Given the description of an element on the screen output the (x, y) to click on. 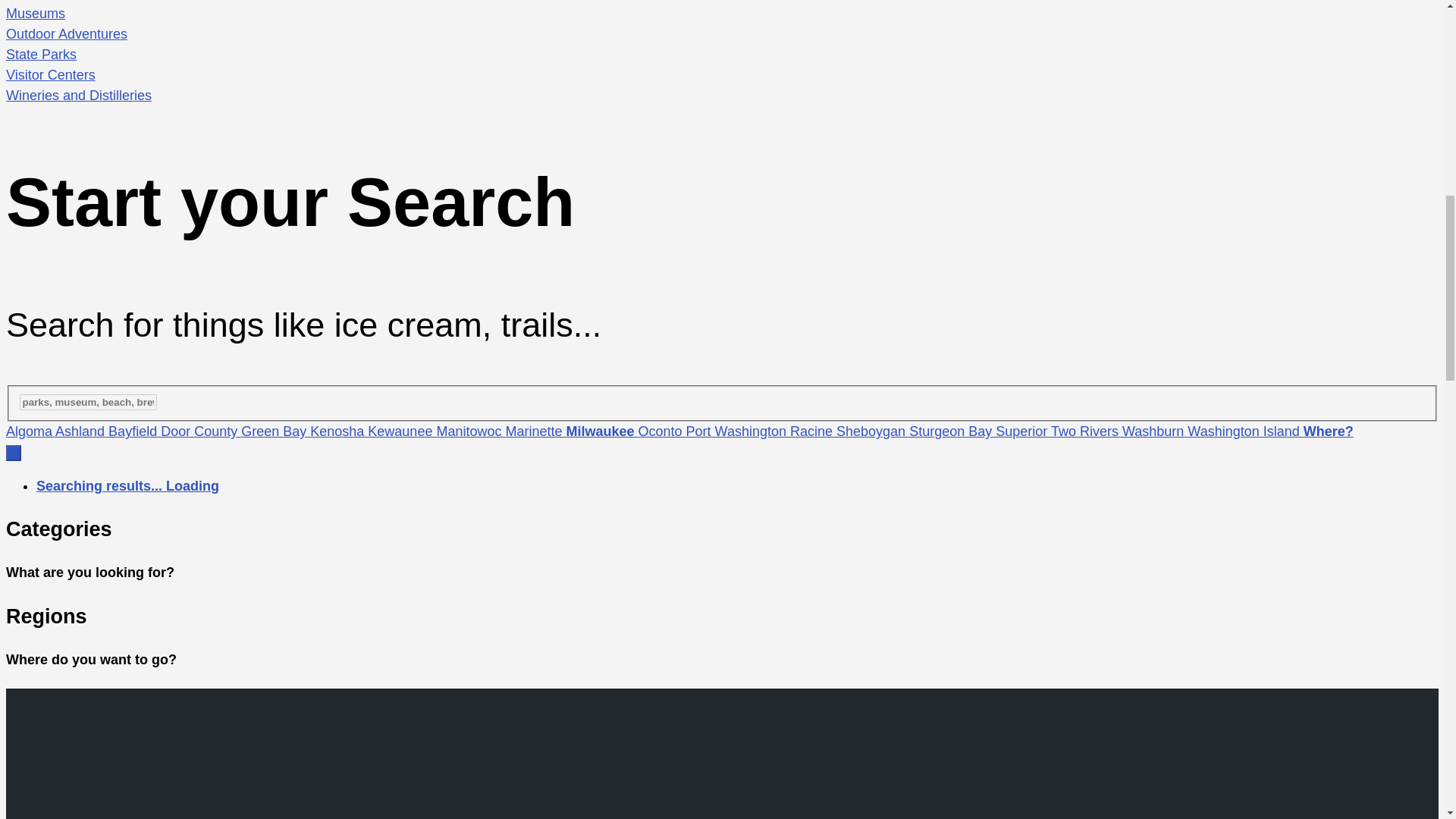
Where? (1328, 431)
Washburn (1155, 431)
Door County (200, 431)
Green Bay (275, 431)
Sheboygan (871, 431)
Racine (812, 431)
Visitor Centers (721, 75)
Bayfield (133, 431)
Wineries and Distilleries (721, 95)
Superior (1023, 431)
Manitowoc (470, 431)
Milwaukee (601, 431)
Marinette (535, 431)
Oconto (662, 431)
